Given the description of an element on the screen output the (x, y) to click on. 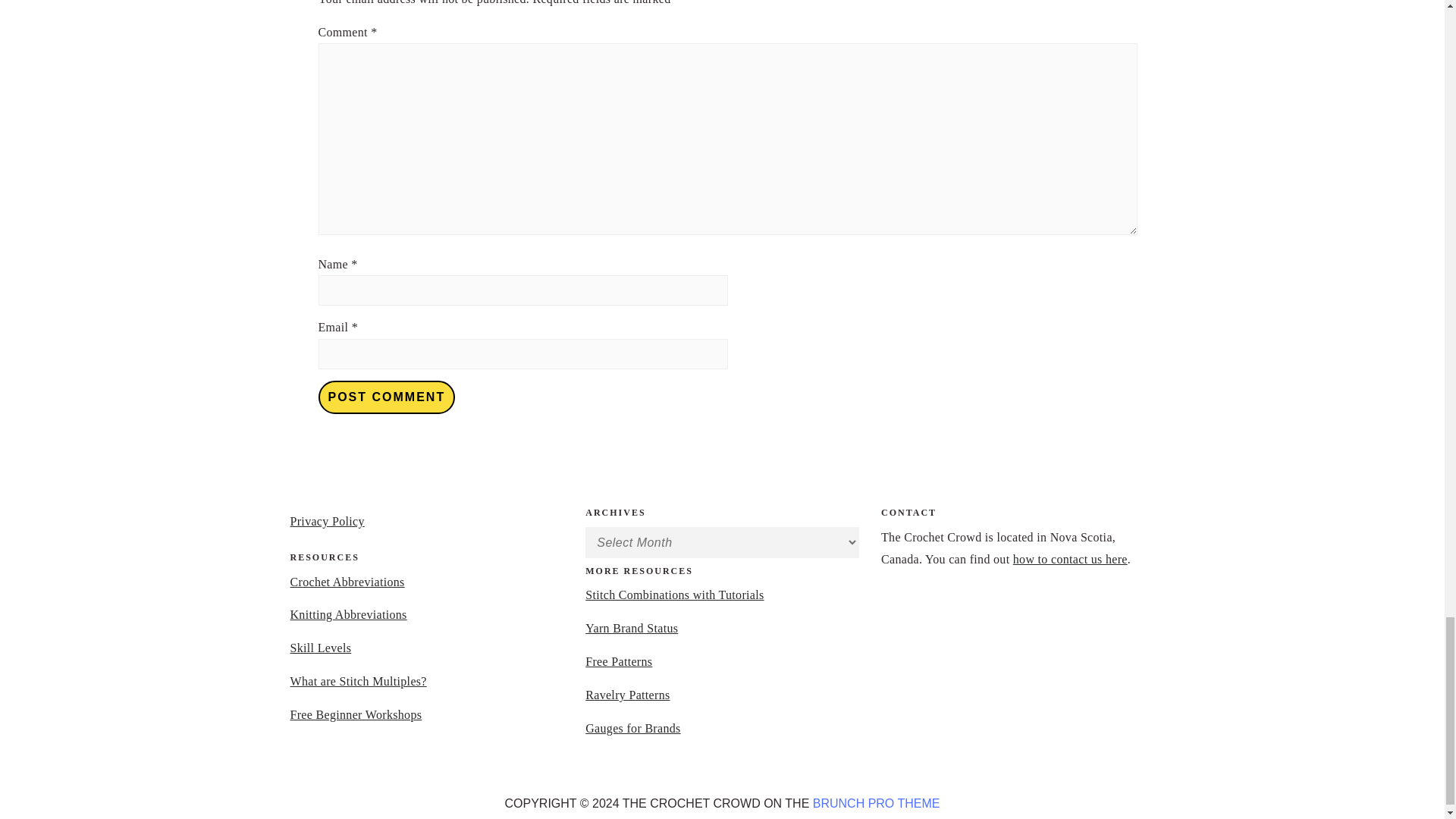
Post Comment (386, 397)
Post Comment (386, 397)
Crochet Abbreviations (346, 581)
Privacy Policy (326, 521)
